Given the description of an element on the screen output the (x, y) to click on. 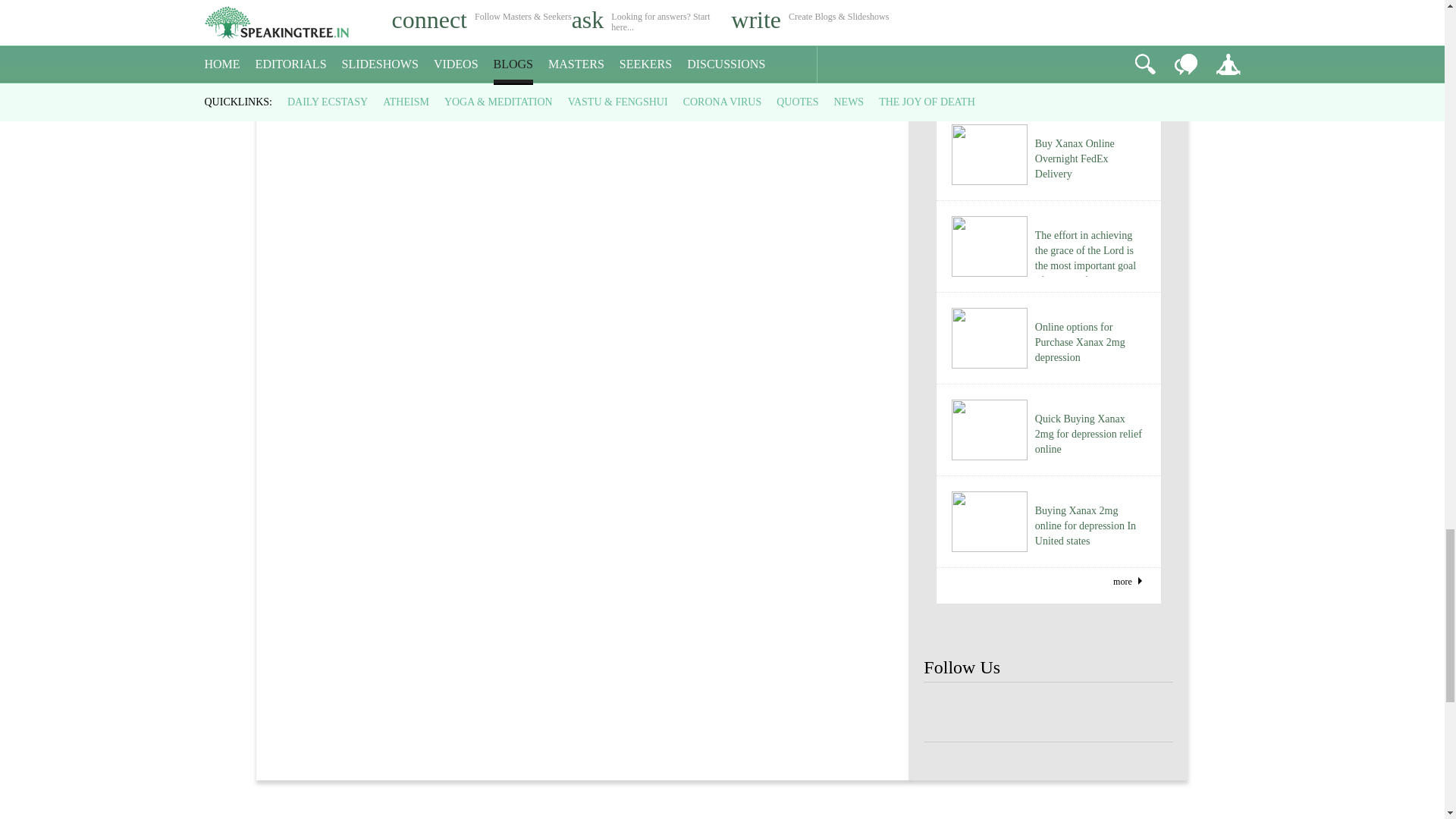
Speaking Tree FaceBook (1048, 712)
Speaking Tree FaceBook (1147, 712)
Speaking Tree FaceBook (1099, 712)
Speaking Tree FaceBook (998, 712)
Speaking Tree FaceBook (948, 712)
